Given the description of an element on the screen output the (x, y) to click on. 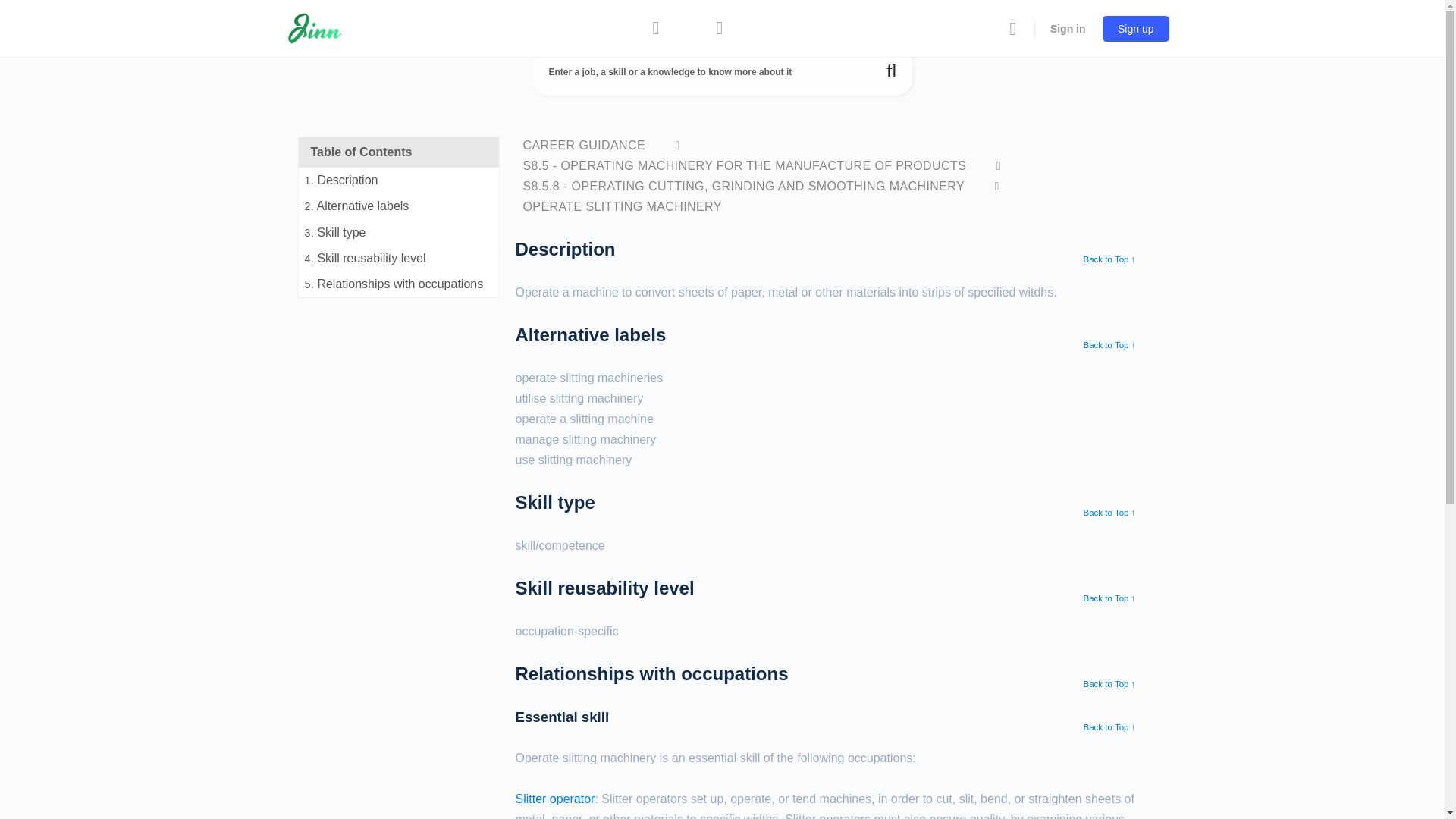
2. Alternative labels (398, 206)
3. Skill type (398, 232)
1. Description (398, 180)
5. Relationships with occupations (398, 284)
4. Skill reusability level (398, 258)
1. Description (398, 180)
Submit (891, 71)
2. Alternative labels (398, 206)
Sign up (1135, 28)
Sign in (1067, 27)
